Given the description of an element on the screen output the (x, y) to click on. 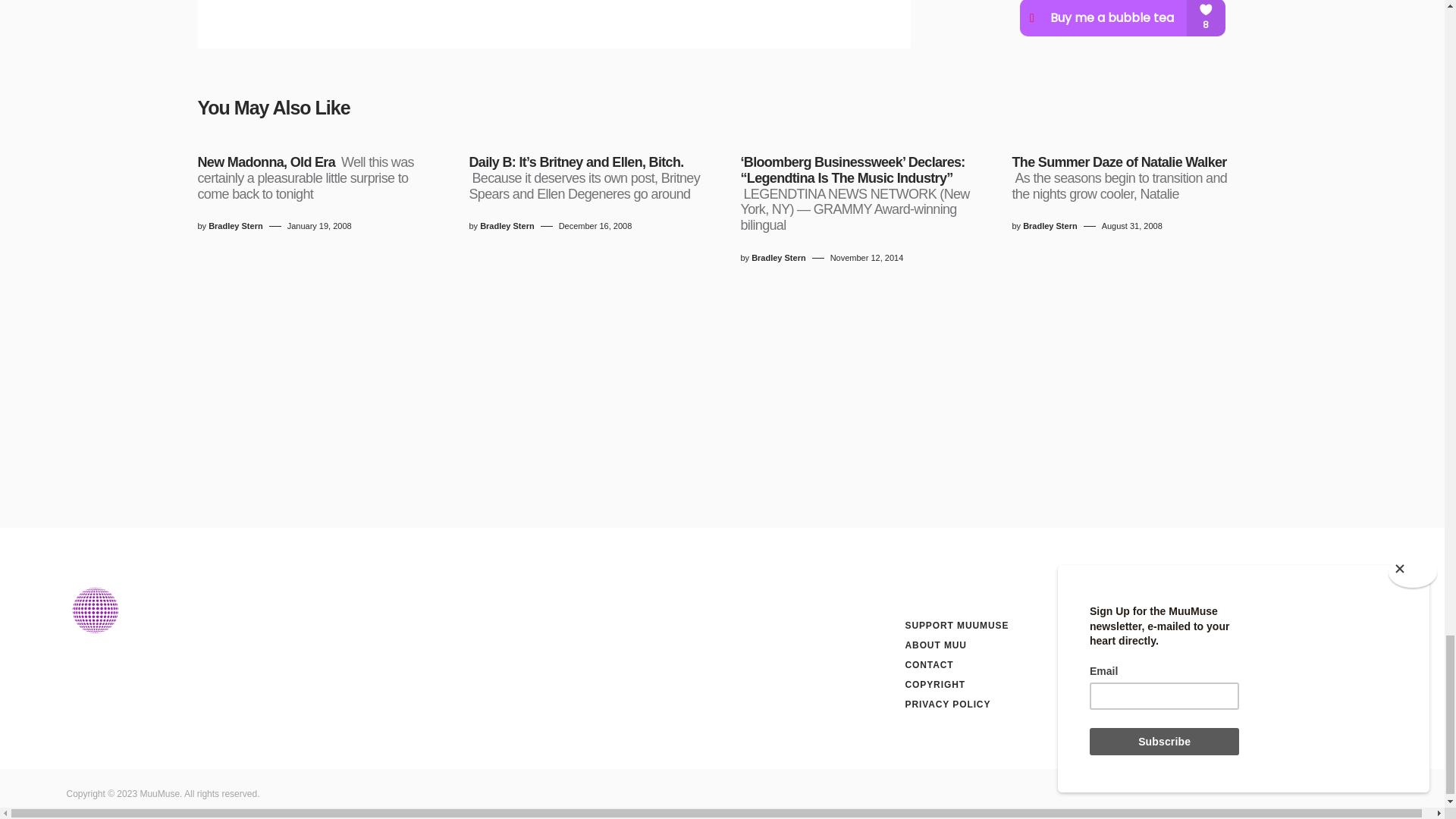
View all posts by Bradley Stern (778, 257)
View all posts by Bradley Stern (235, 226)
View all posts by Bradley Stern (507, 226)
View all posts by Bradley Stern (1050, 226)
